Given the description of an element on the screen output the (x, y) to click on. 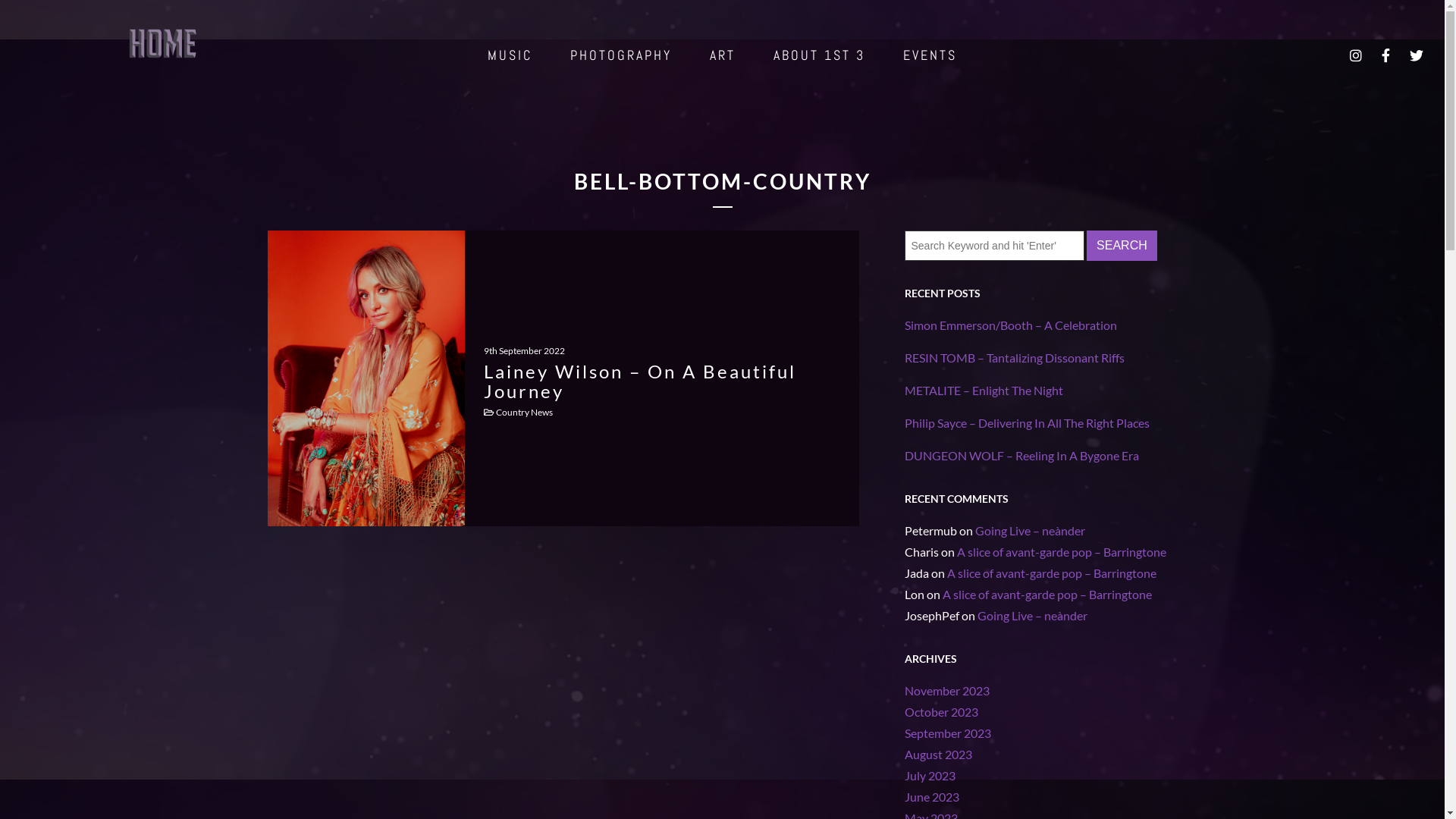
August 2023 Element type: text (937, 753)
MUSIC Element type: text (509, 55)
October 2023 Element type: text (940, 710)
July 2023 Element type: text (928, 774)
November 2023 Element type: text (945, 689)
June 2023 Element type: text (930, 795)
ABOUT 1ST 3 Element type: text (819, 55)
Instagram Element type: hover (1356, 55)
Search Element type: text (1121, 245)
Facebook Element type: hover (1386, 55)
September 2023 Element type: text (946, 731)
EVENTS Element type: text (930, 55)
Twitter Element type: hover (1417, 55)
PHOTOGRAPHY Element type: text (621, 55)
ART Element type: text (722, 55)
